Given the description of an element on the screen output the (x, y) to click on. 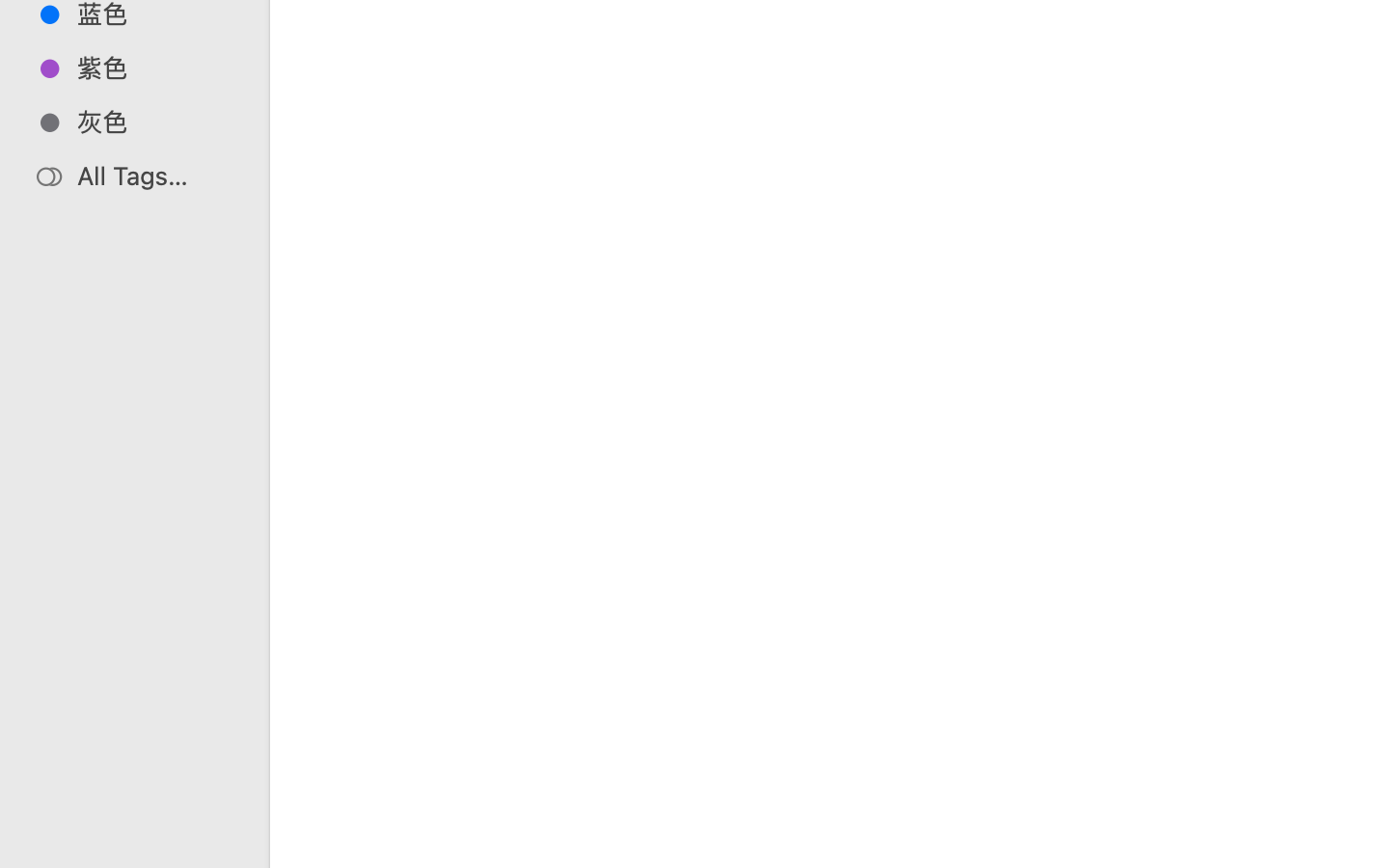
灰色 Element type: AXStaticText (155, 121)
